Given the description of an element on the screen output the (x, y) to click on. 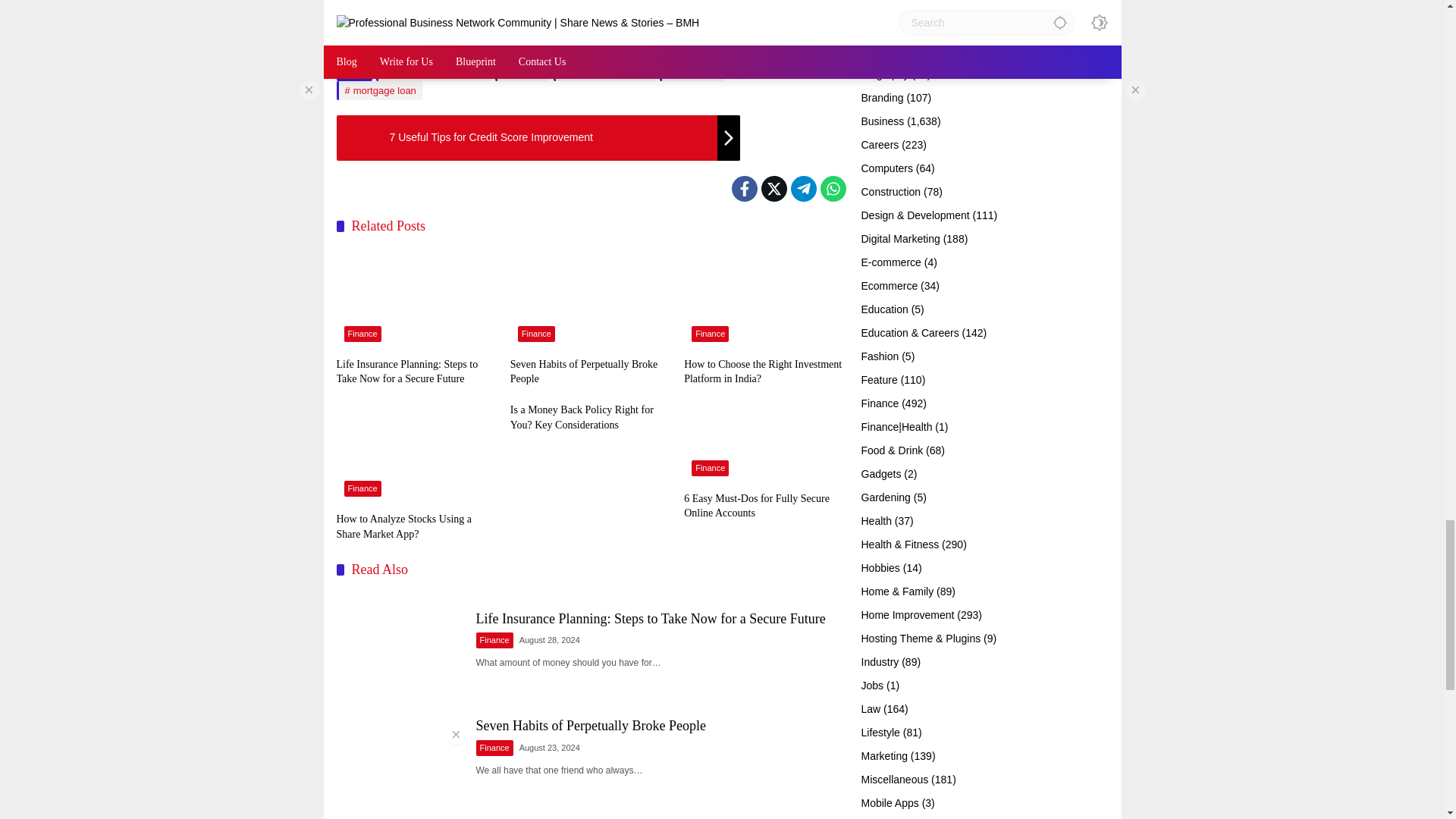
mortgage loan (379, 90)
Financial standing (604, 71)
7 Useful Tips for Credit Score Improvement (537, 137)
7 Useful Tips for Credit Score Improvement (537, 137)
Commercial Property (433, 71)
Mortgage (691, 71)
finance (522, 71)
